Given the description of an element on the screen output the (x, y) to click on. 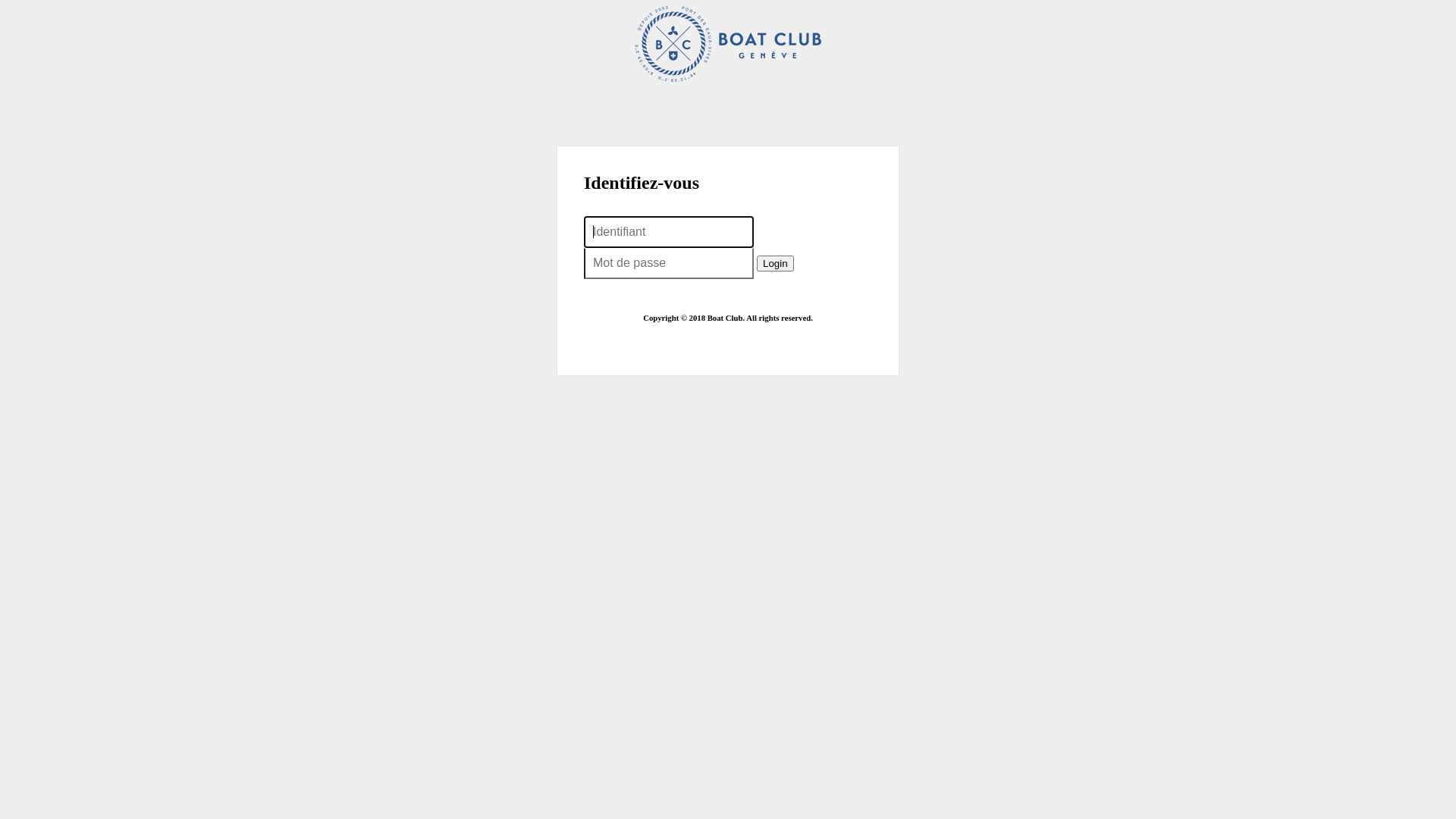
Login Element type: text (774, 263)
